Given the description of an element on the screen output the (x, y) to click on. 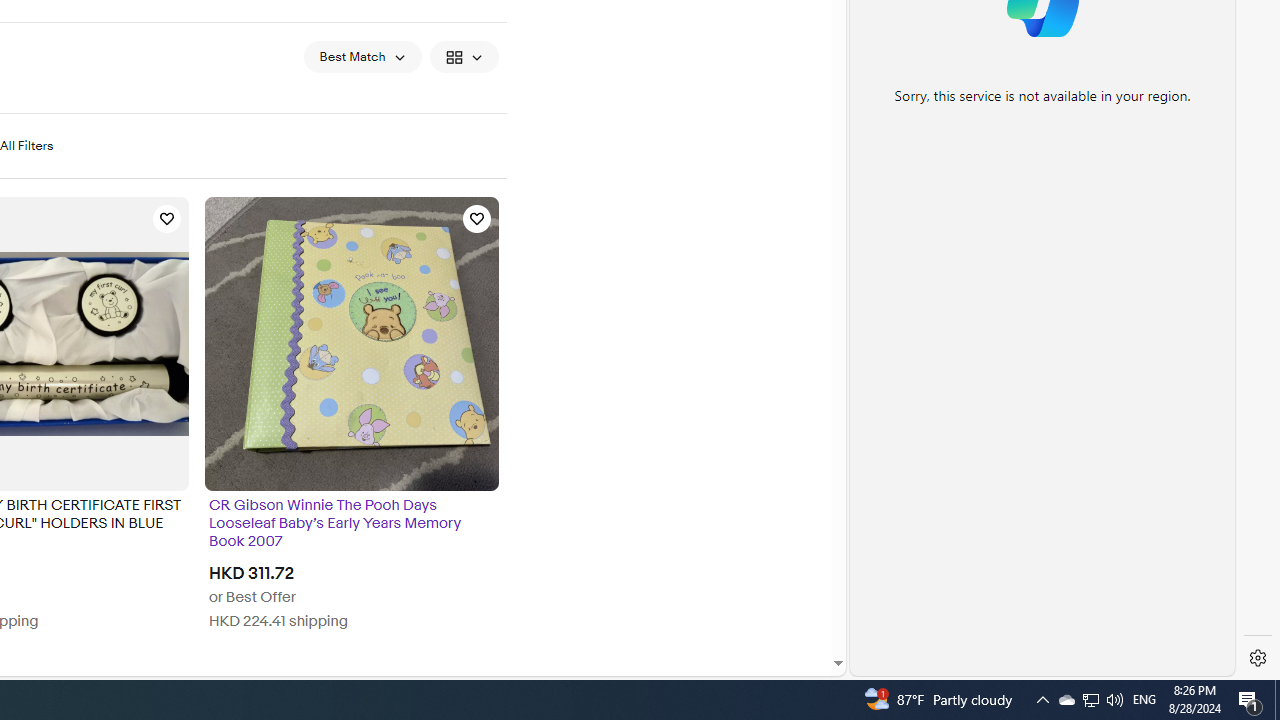
Settings (1258, 658)
Sort: Best Match (362, 56)
View: Gallery View (463, 56)
